Given the description of an element on the screen output the (x, y) to click on. 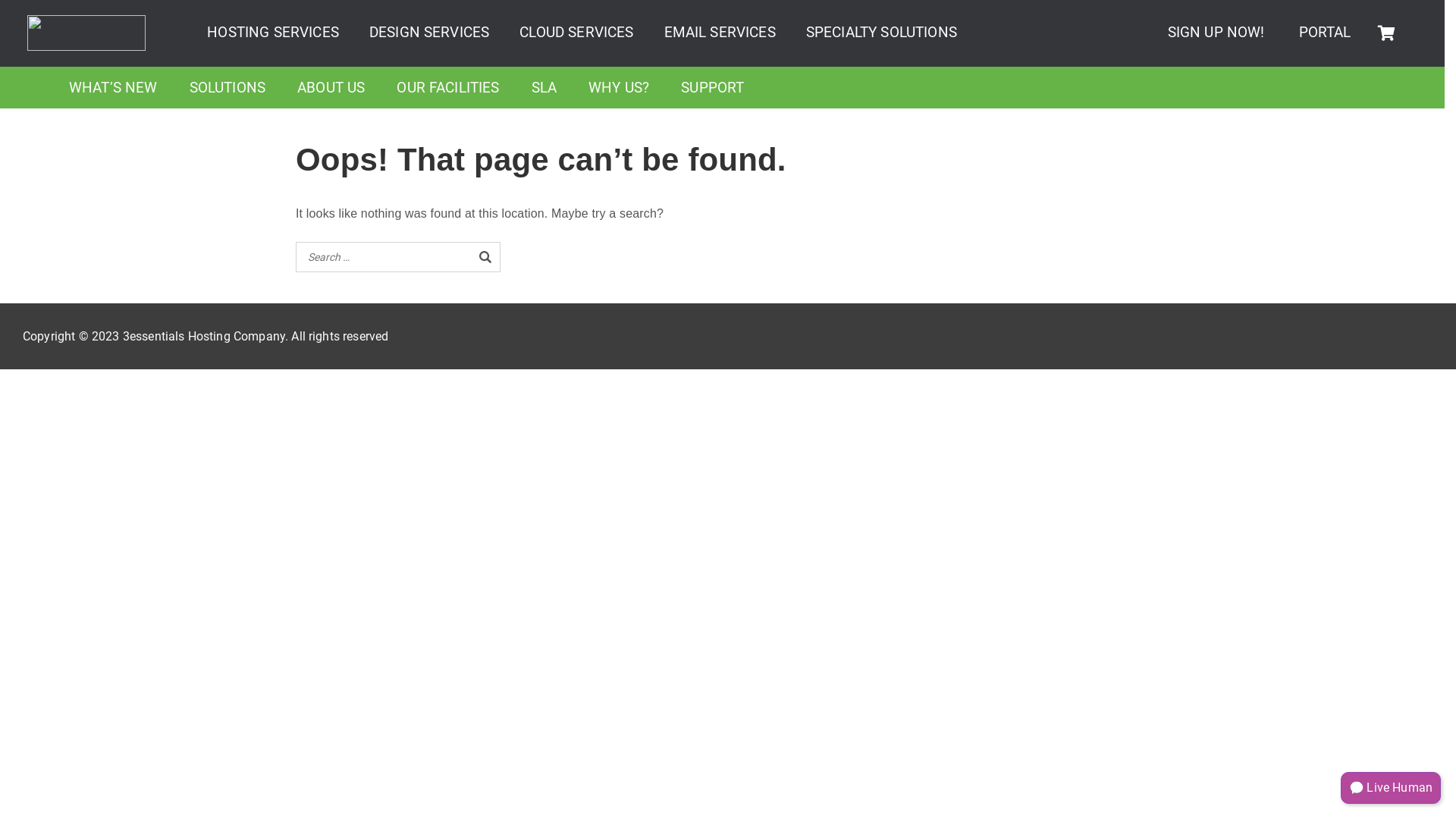
SUPPORT Element type: text (712, 87)
SLA Element type: text (543, 87)
OUR FACILITIES Element type: text (447, 87)
SIGN UP NOW! Element type: text (1216, 31)
SOLUTIONS Element type: text (227, 87)
WHY US? Element type: text (618, 87)
ABOUT US Element type: text (330, 87)
3essentials-logo Element type: hover (86, 32)
CLOUD SERVICES Element type: text (576, 32)
PORTAL Element type: text (1324, 31)
DESIGN SERVICES Element type: text (429, 32)
SPECIALTY SOLUTIONS Element type: text (881, 32)
HOSTING SERVICES Element type: text (272, 32)
EMAIL SERVICES Element type: text (719, 32)
